Given the description of an element on the screen output the (x, y) to click on. 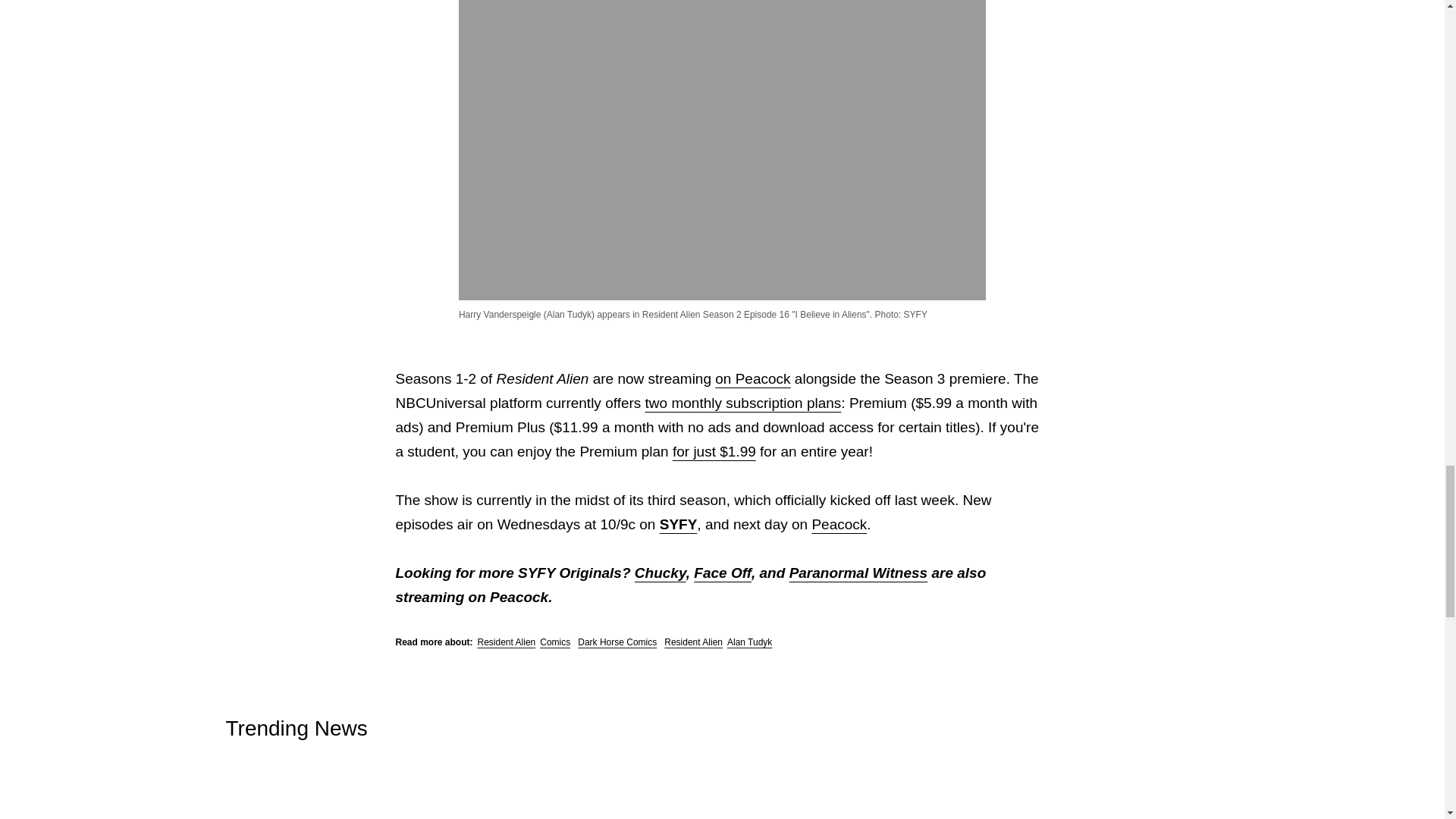
on Peacock (752, 378)
